Given the description of an element on the screen output the (x, y) to click on. 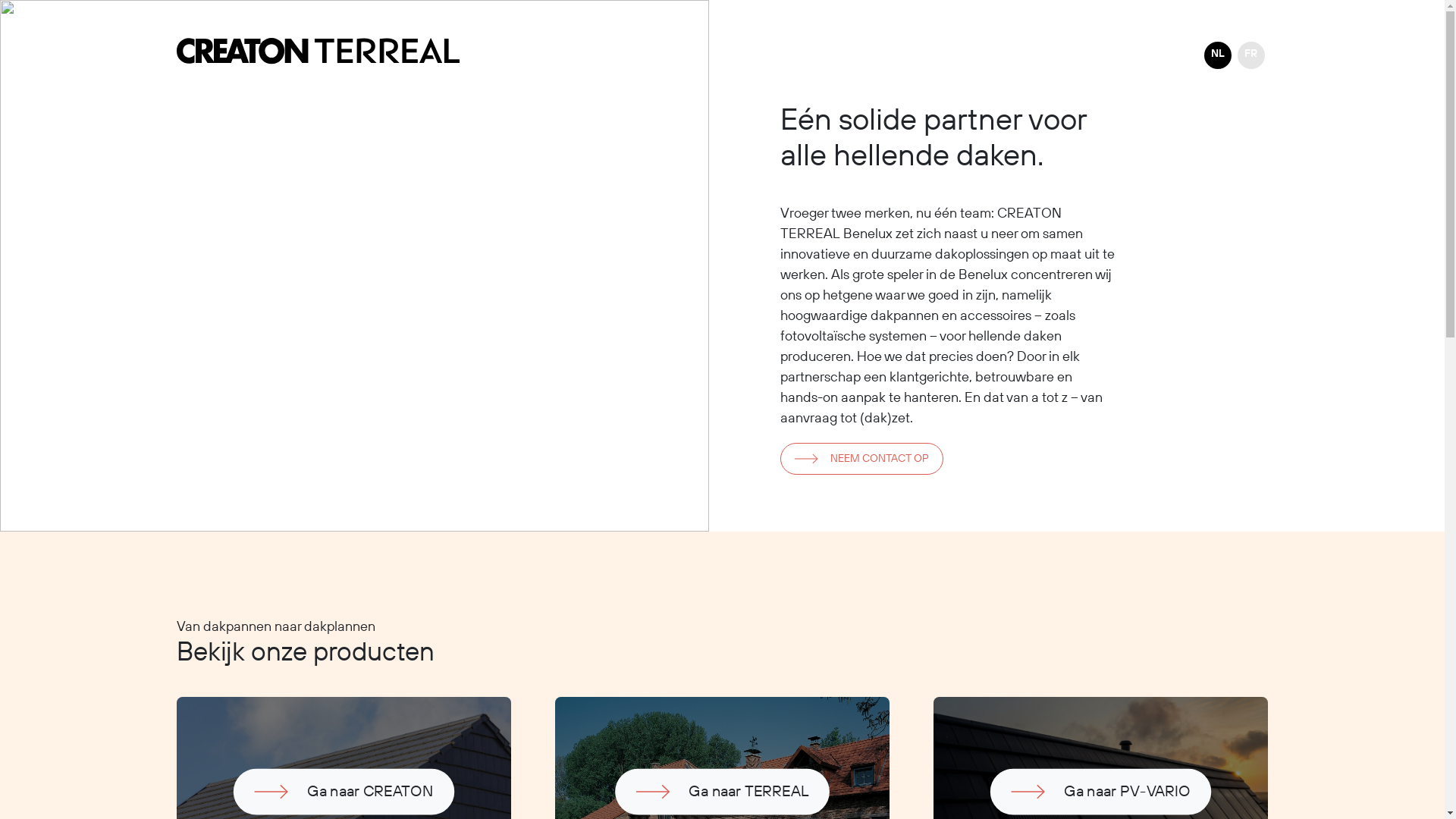
FR Element type: text (1250, 55)
NL Element type: text (1217, 55)
Ga naar PV-VARIO Element type: text (1066, 784)
NEEM CONTACT OP Element type: text (861, 458)
Ga naar TERREAL Element type: text (688, 784)
Ga naar CREATON Element type: text (309, 784)
